Given the description of an element on the screen output the (x, y) to click on. 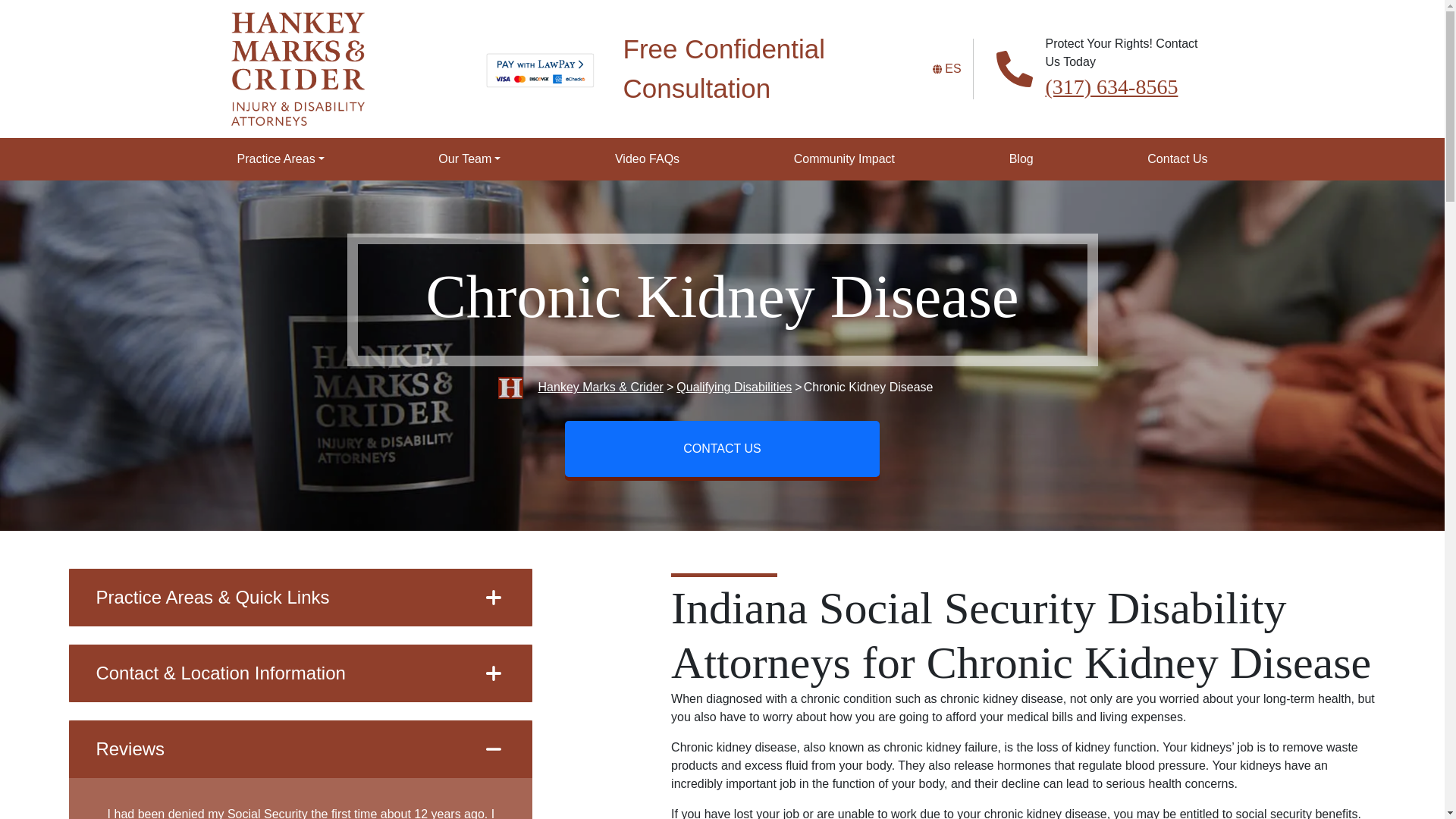
Spanish (952, 68)
Go to Qualifying Disabilities. (733, 386)
ES (952, 68)
